Given the description of an element on the screen output the (x, y) to click on. 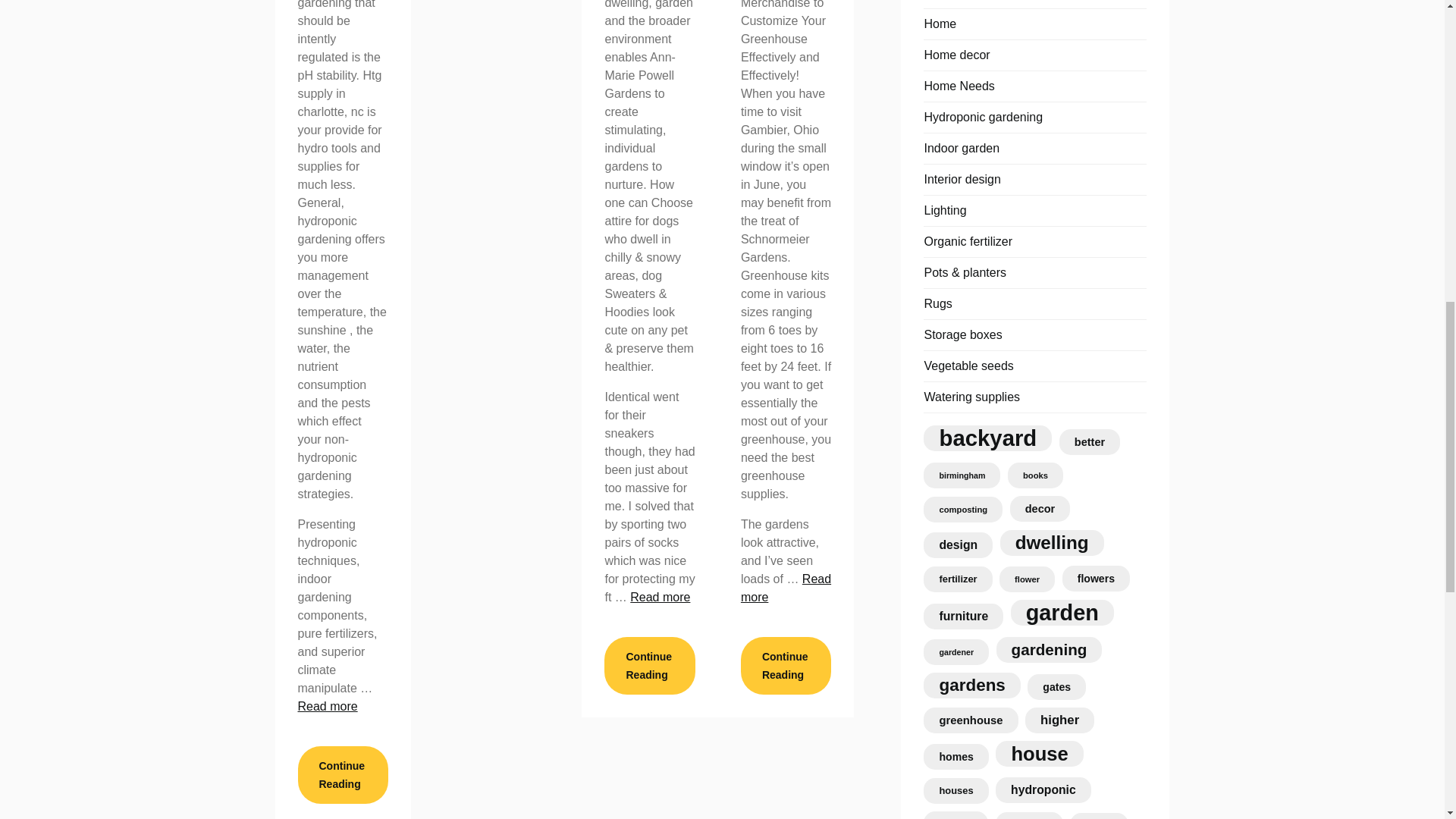
Continue Reading (649, 665)
Read more (660, 596)
Read more (326, 706)
Continue Reading (342, 774)
